Given the description of an element on the screen output the (x, y) to click on. 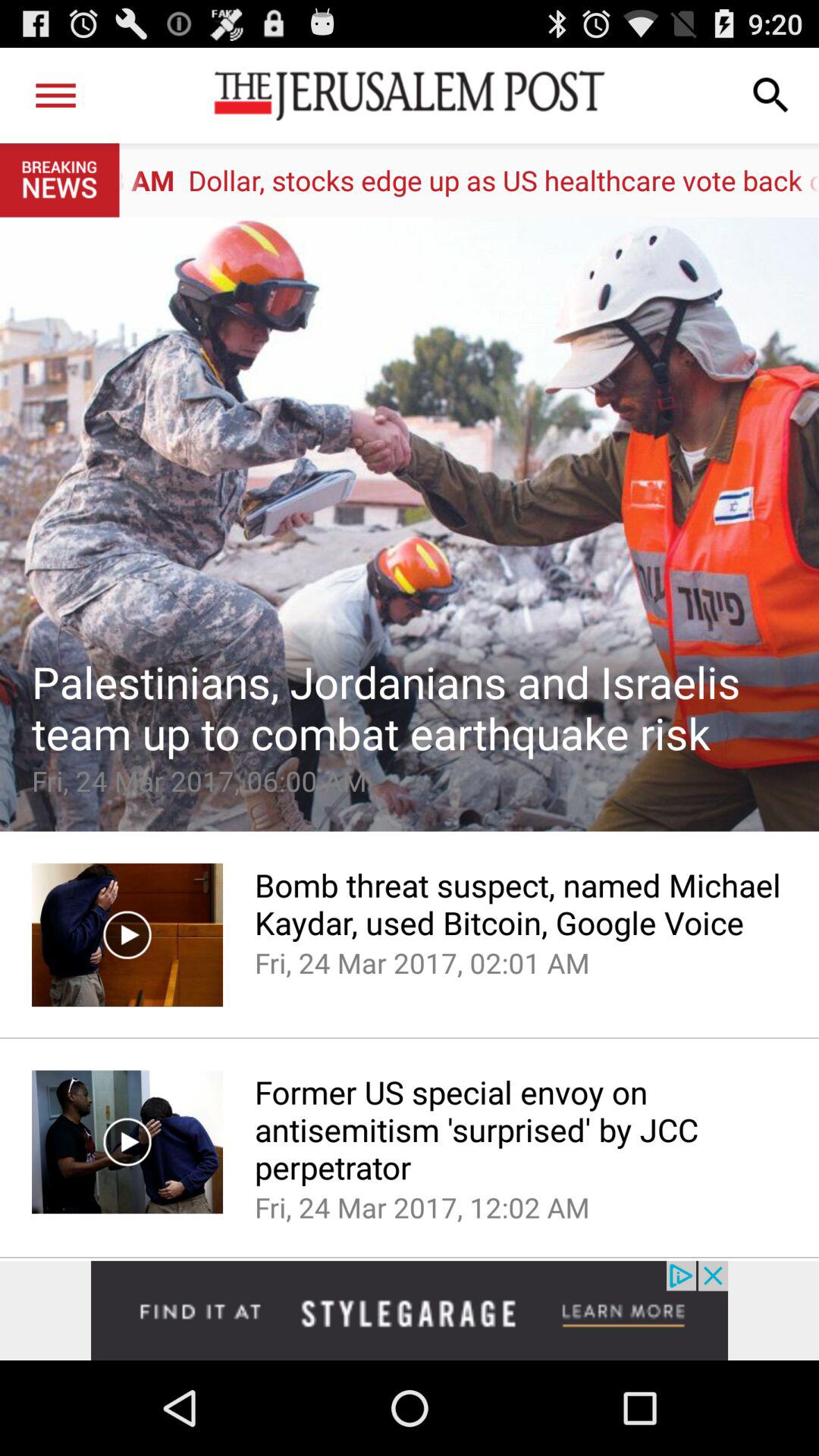
search for articles (771, 95)
